Given the description of an element on the screen output the (x, y) to click on. 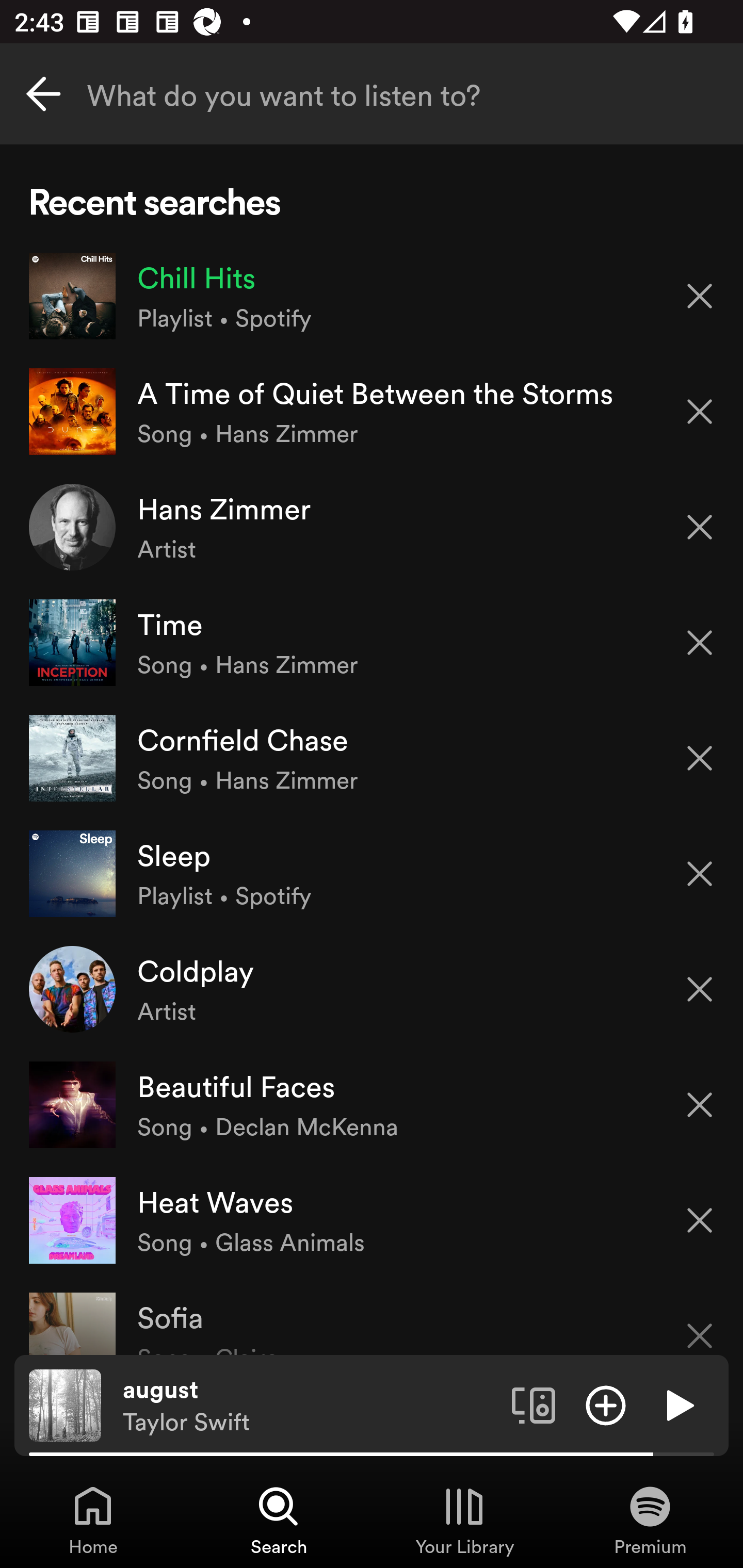
What do you want to listen to? (371, 93)
Cancel (43, 93)
Chill Hits Playlist • Spotify Remove (371, 296)
Remove (699, 295)
Remove (699, 411)
Hans Zimmer Artist Remove (371, 526)
Remove (699, 527)
Time Song • Hans Zimmer Remove (371, 642)
Remove (699, 642)
Cornfield Chase Song • Hans Zimmer Remove (371, 757)
Remove (699, 758)
Sleep Playlist • Spotify Remove (371, 873)
Remove (699, 874)
Coldplay Artist Remove (371, 989)
Remove (699, 989)
Beautiful Faces Song • Declan McKenna Remove (371, 1104)
Remove (699, 1104)
Heat Waves Song • Glass Animals Remove (371, 1219)
Remove (699, 1220)
Sofia Song • Clairo Remove (371, 1315)
Remove (699, 1323)
august Taylor Swift (309, 1405)
The cover art of the currently playing track (64, 1404)
Connect to a device. Opens the devices menu (533, 1404)
Add item (605, 1404)
Play (677, 1404)
Home, Tab 1 of 4 Home Home (92, 1519)
Search, Tab 2 of 4 Search Search (278, 1519)
Your Library, Tab 3 of 4 Your Library Your Library (464, 1519)
Premium, Tab 4 of 4 Premium Premium (650, 1519)
